Given the description of an element on the screen output the (x, y) to click on. 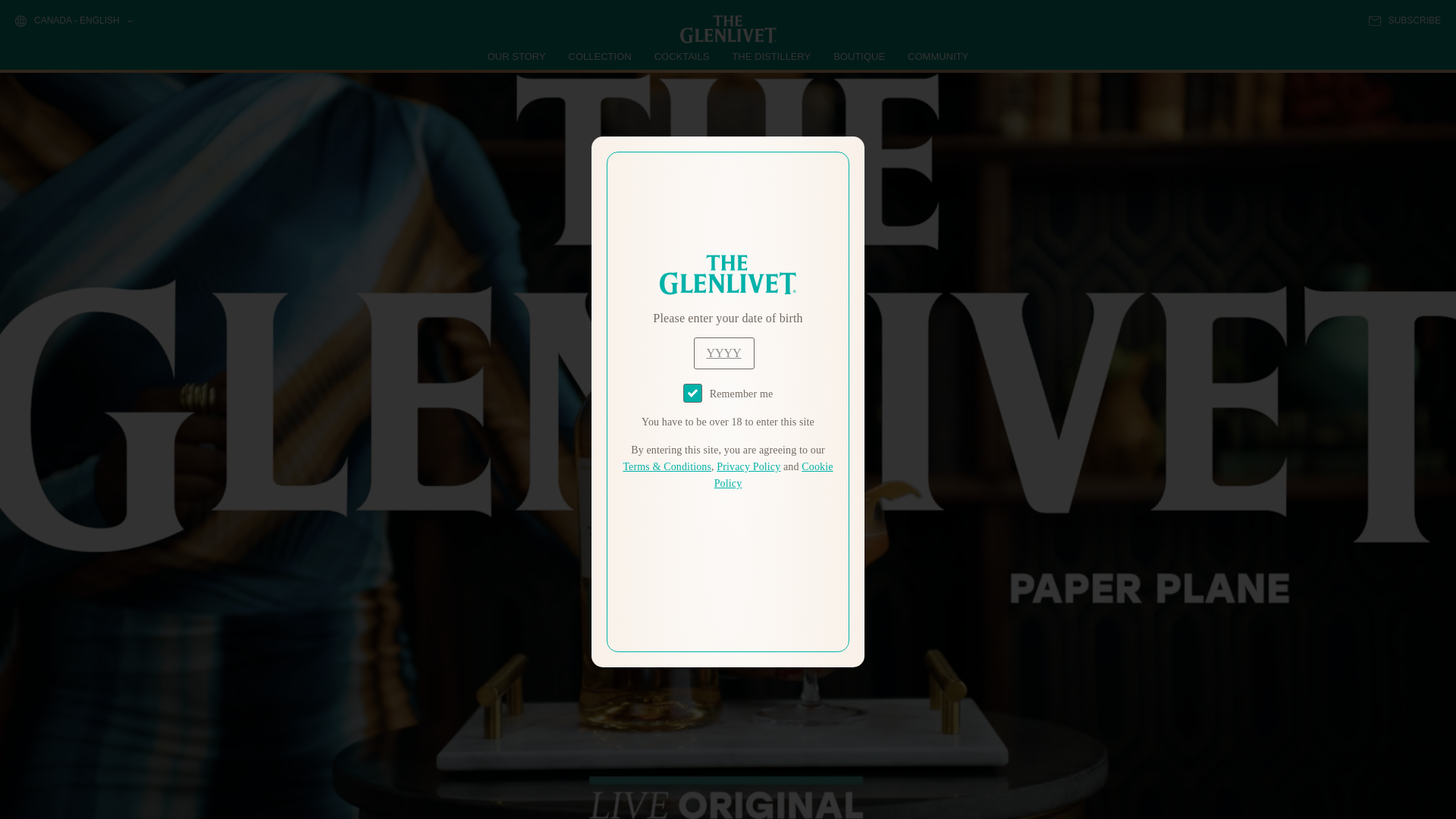
year (723, 353)
THE DISTILLERY (771, 56)
COCKTAILS (681, 56)
COMMUNITY (937, 56)
Privacy Policy (748, 466)
Cookie Policy (773, 474)
COLLECTION (600, 56)
OUR STORY (516, 56)
CANADA - ENGLISH (73, 21)
SUBSCRIBE (1404, 20)
